Given the description of an element on the screen output the (x, y) to click on. 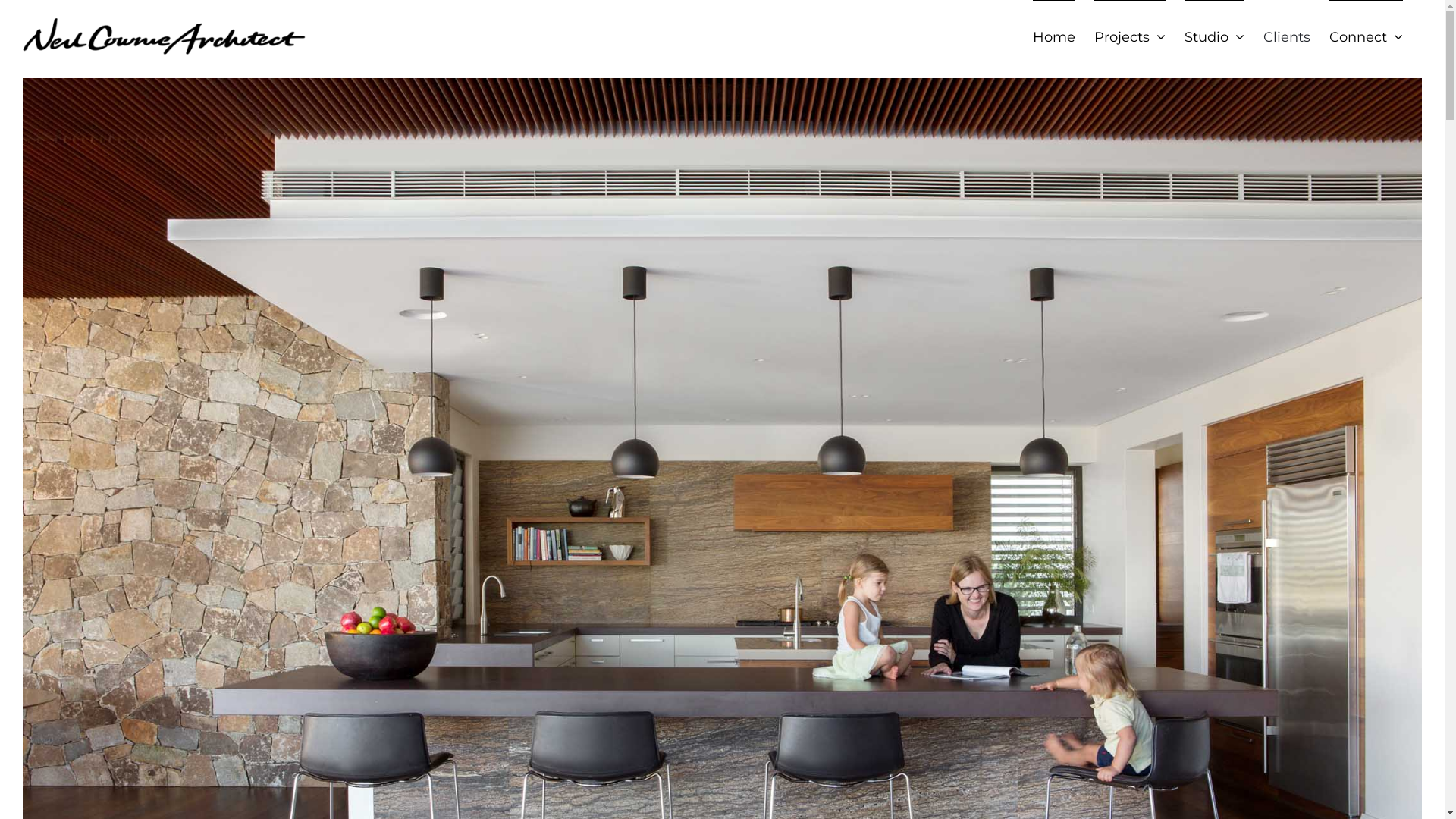
Projects Element type: text (1129, 36)
Home Element type: text (1053, 36)
Connect Element type: text (1365, 36)
Clients Element type: text (1286, 36)
Studio Element type: text (1214, 36)
